Given the description of an element on the screen output the (x, y) to click on. 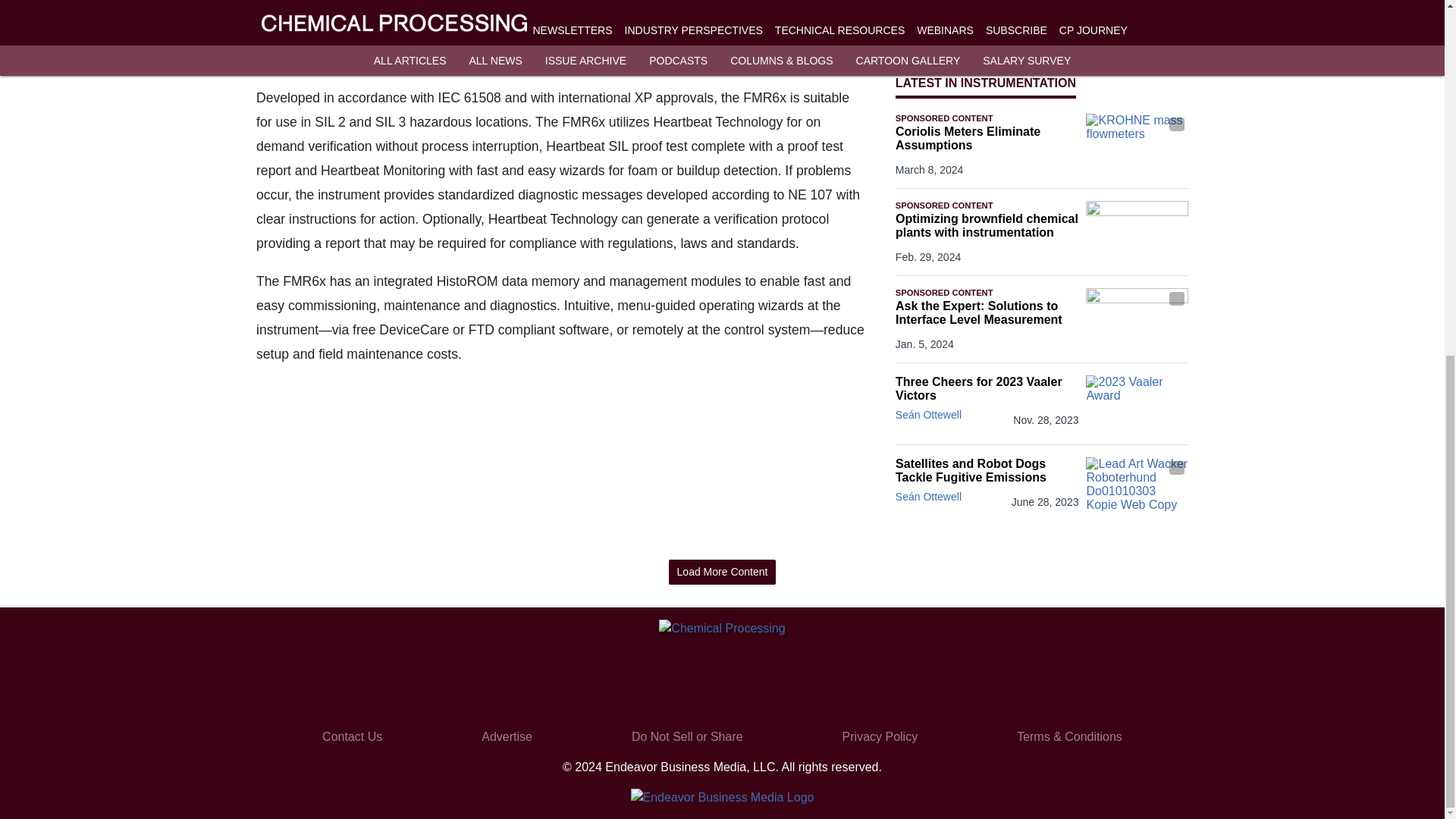
KROHNE mass flowmeters (1137, 141)
Ask the Expert: Solutions to Interface Level Measurement (986, 312)
Satellites and Robot Dogs Tackle Fugitive Emissions (986, 470)
LATEST IN INSTRUMENTATION (985, 82)
Three Cheers for 2023 Vaaler Victors (986, 388)
Coriolis Meters Eliminate Assumptions (986, 138)
2023 Vaaler Award (1137, 403)
Lead Art Wacker Roboterhund Do01010303 Kopie Web Copy (1137, 485)
Load More Content (722, 571)
Optimizing brownfield chemical plants with instrumentation (986, 225)
